Given the description of an element on the screen output the (x, y) to click on. 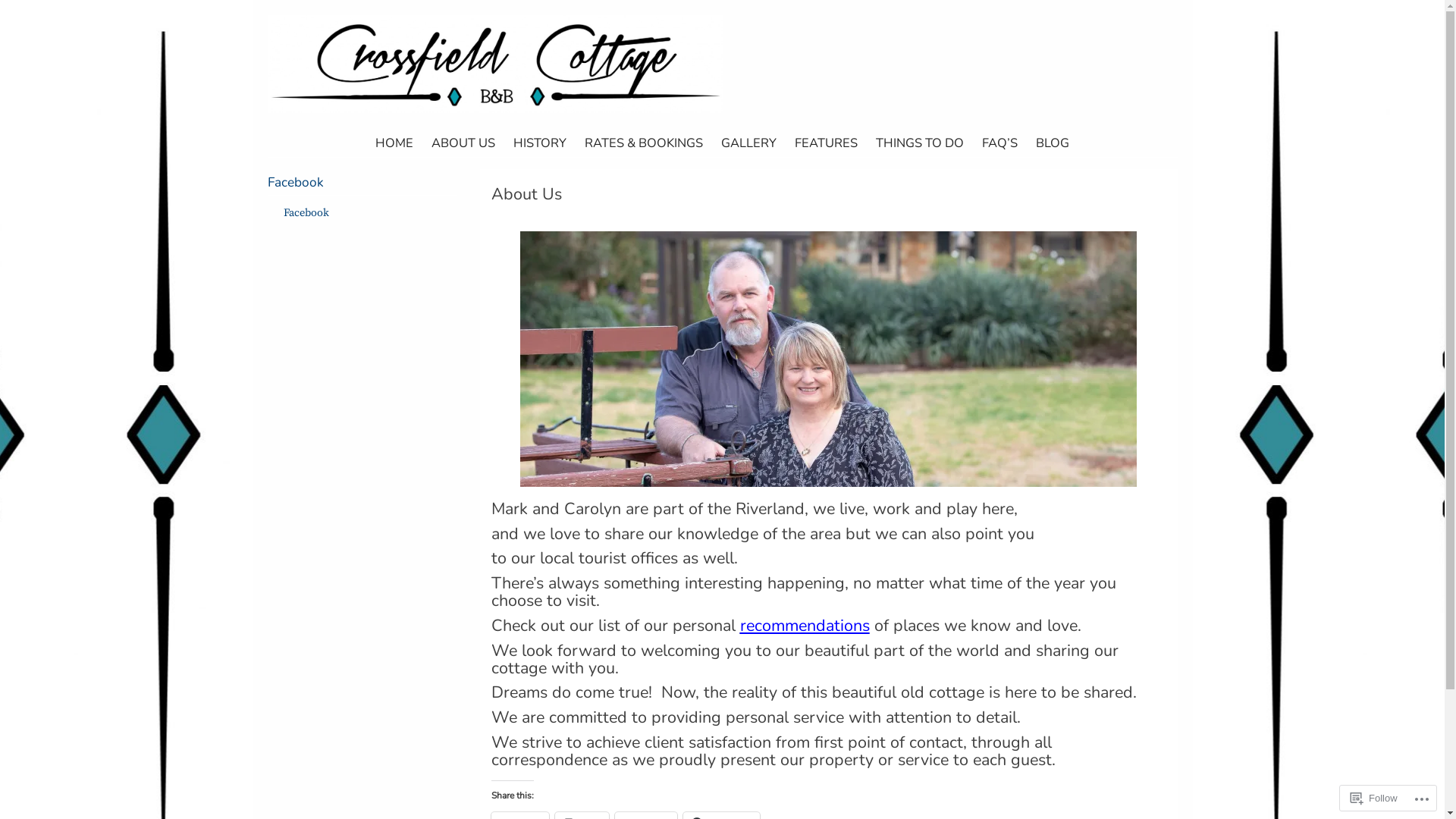
GALLERY Element type: text (748, 143)
CROSSFIELD COTTAGE B & B Element type: text (412, 128)
SKIP TO CONTENT Element type: text (281, 138)
BLOG Element type: text (1052, 143)
Facebook Element type: text (294, 182)
THINGS TO DO Element type: text (919, 143)
RATES & BOOKINGS Element type: text (643, 143)
HOME Element type: text (393, 143)
HISTORY Element type: text (539, 143)
Facebook Element type: text (306, 212)
ABOUT US Element type: text (462, 143)
recommendations Element type: text (804, 625)
Crossfield Cottage B & B Element type: hover (493, 108)
Follow Element type: text (1373, 797)
FEATURES Element type: text (826, 143)
